Given the description of an element on the screen output the (x, y) to click on. 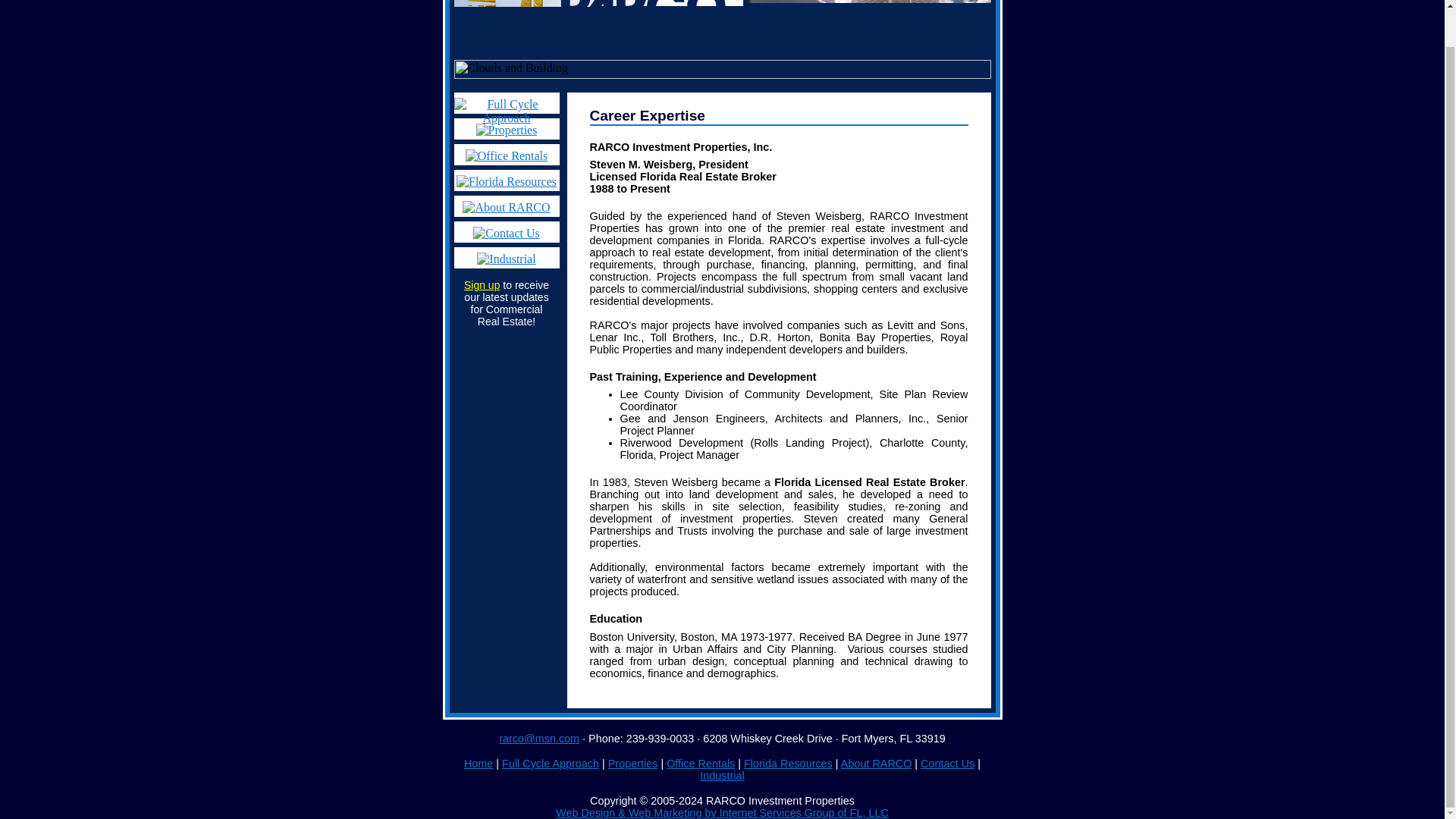
Sign up (481, 285)
Full Cycle Approach (505, 102)
Office Rentals (700, 763)
RARCO Investment Properties, Inc. (778, 146)
Contact Us (947, 763)
Contact Us (947, 763)
Office Rentals (505, 154)
Education (778, 618)
Office Rentals (700, 763)
Florida Resources (788, 763)
